Given the description of an element on the screen output the (x, y) to click on. 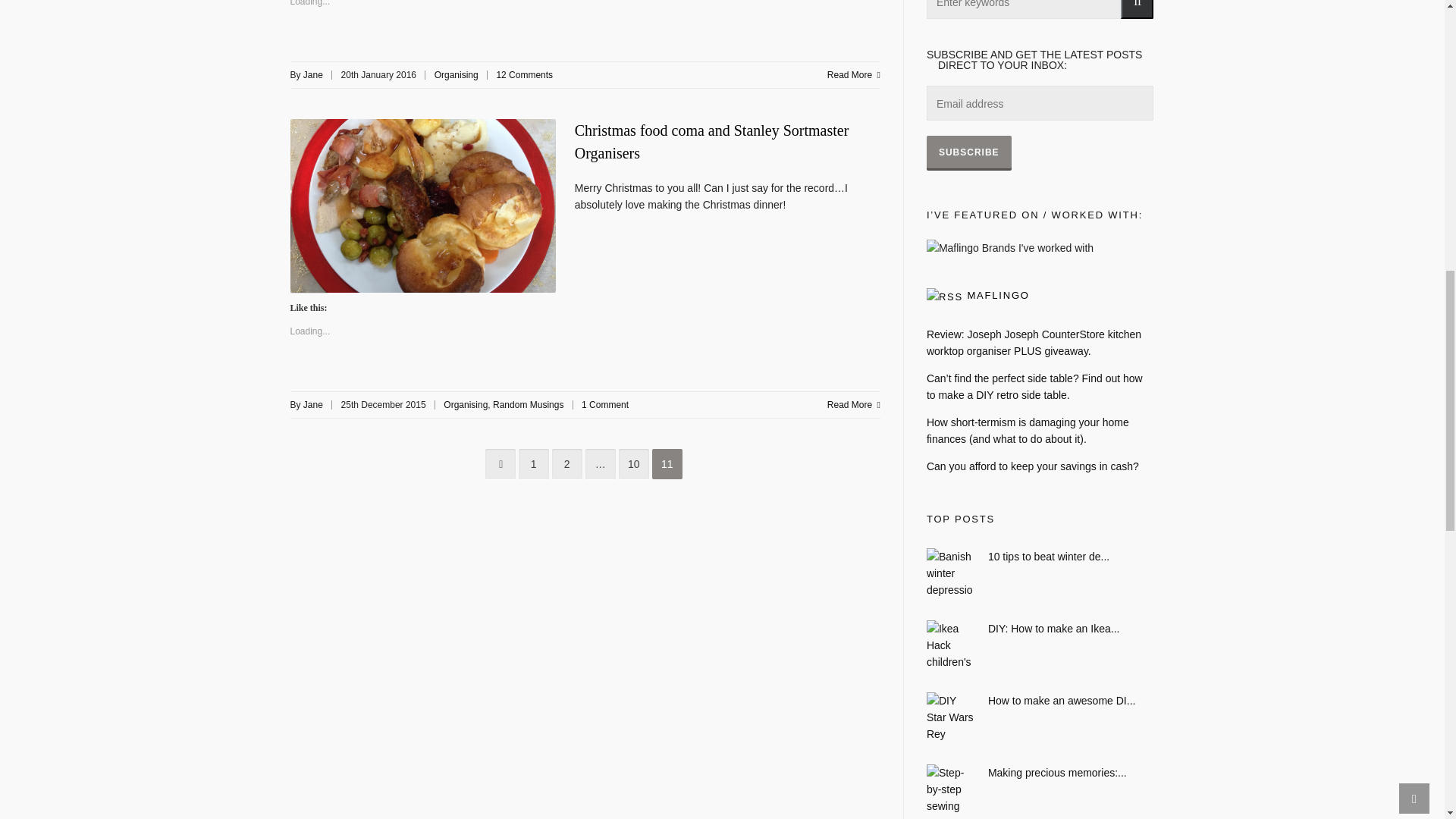
Organising (456, 74)
1 Comment (604, 404)
Posts by Jane (312, 404)
Christmas food coma and Stanley Sortmaster Organisers (711, 141)
Jane (312, 74)
Posts by Jane (312, 74)
Making precious memories: How to make a cushion using ties. (1040, 772)
12 Comments (524, 74)
12 Comments (524, 74)
